Given the description of an element on the screen output the (x, y) to click on. 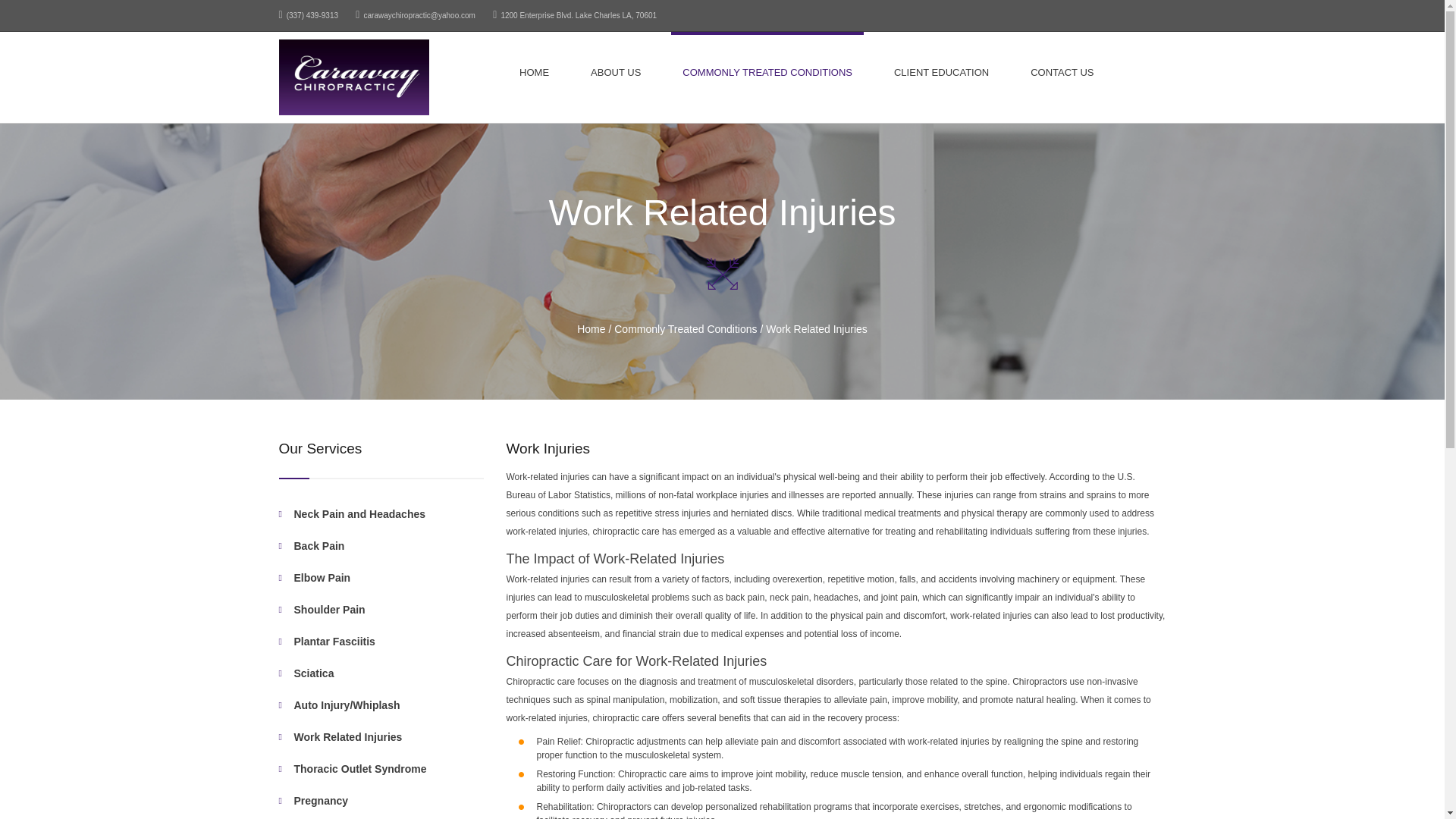
Elbow Pain (388, 577)
Work Related Injuries (816, 328)
CLIENT EDUCATION (941, 69)
1200 Enterprise Blvd. Lake Charles LA, 70601 (574, 15)
Plantar Fasciitis (388, 641)
Thoracic Outlet Syndrome (388, 768)
Commonly Treated Conditions (685, 328)
Neck Pain and Headaches (388, 514)
Home (590, 328)
CONTACT US (1062, 69)
Shoulder Pain (388, 609)
Sciatica (388, 672)
ABOUT US (615, 69)
COMMONLY TREATED CONDITIONS (767, 69)
Back Pain (388, 545)
